Given the description of an element on the screen output the (x, y) to click on. 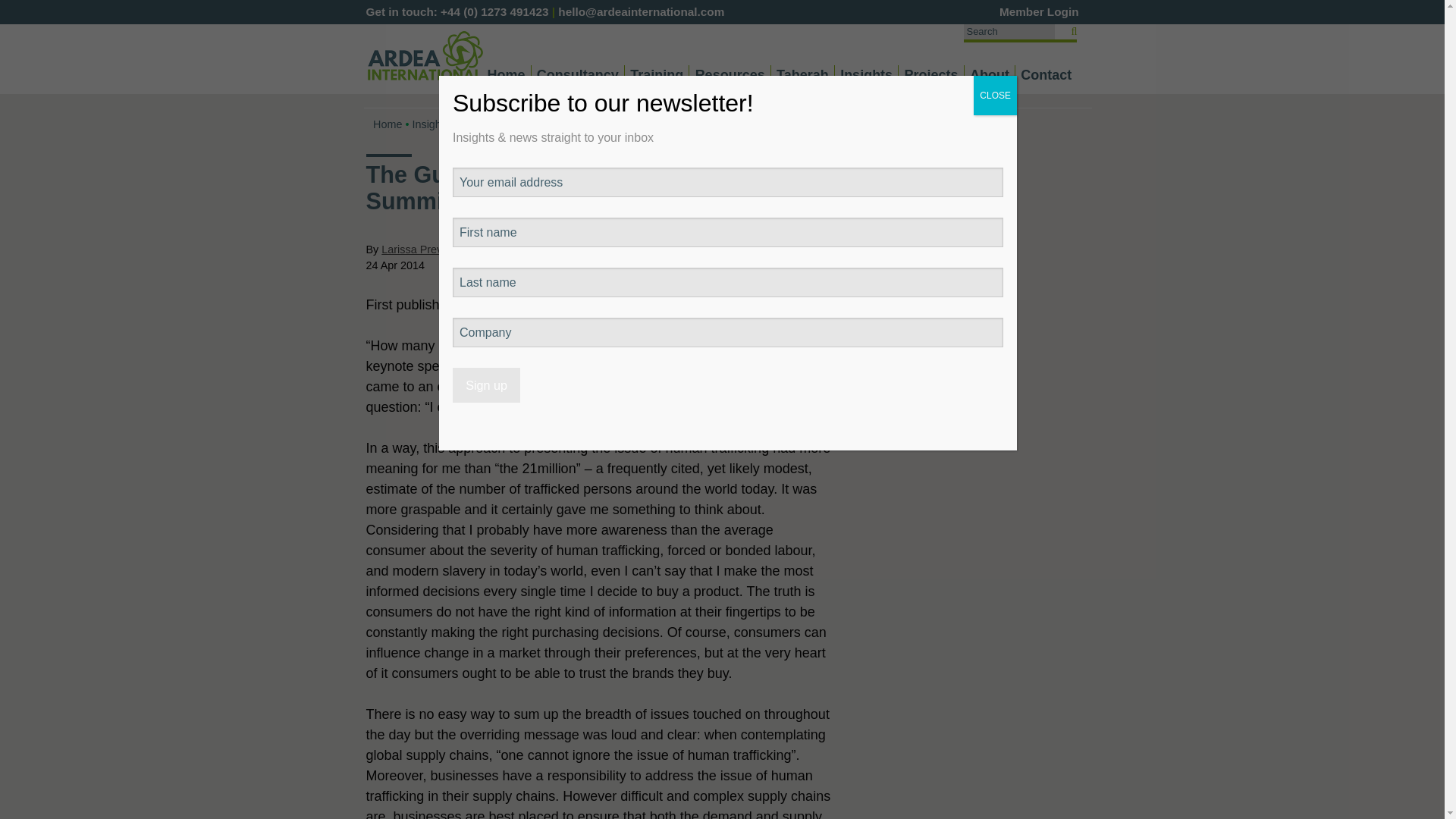
Consultancy (577, 75)
Home (505, 75)
Insights (866, 75)
Resources (730, 75)
About (989, 75)
Projects (931, 75)
Contact (1045, 75)
Taberah (802, 75)
Training (656, 75)
Member Login (1038, 11)
Sign up (485, 384)
